Given the description of an element on the screen output the (x, y) to click on. 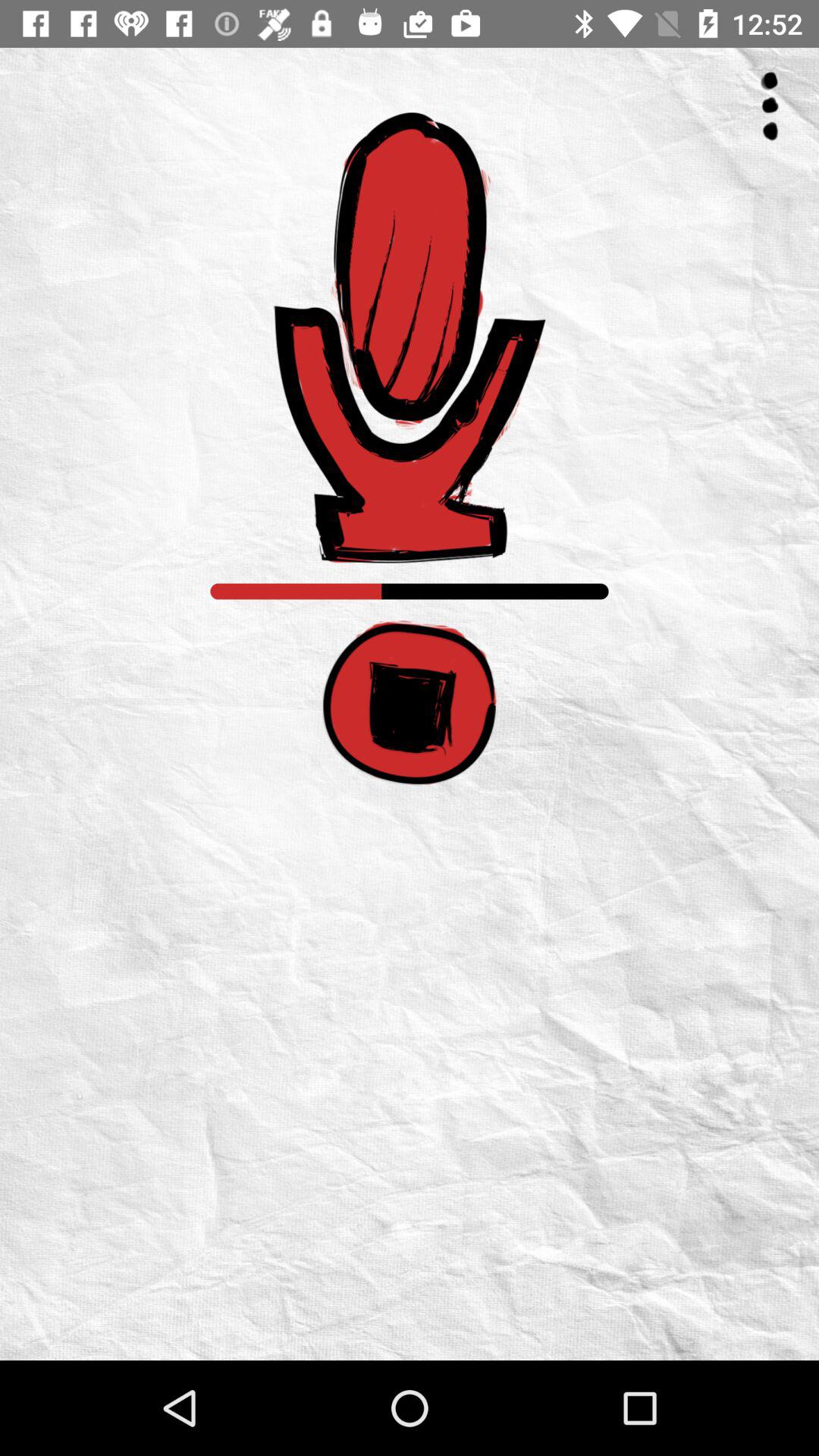
speak what you need (409, 337)
